Given the description of an element on the screen output the (x, y) to click on. 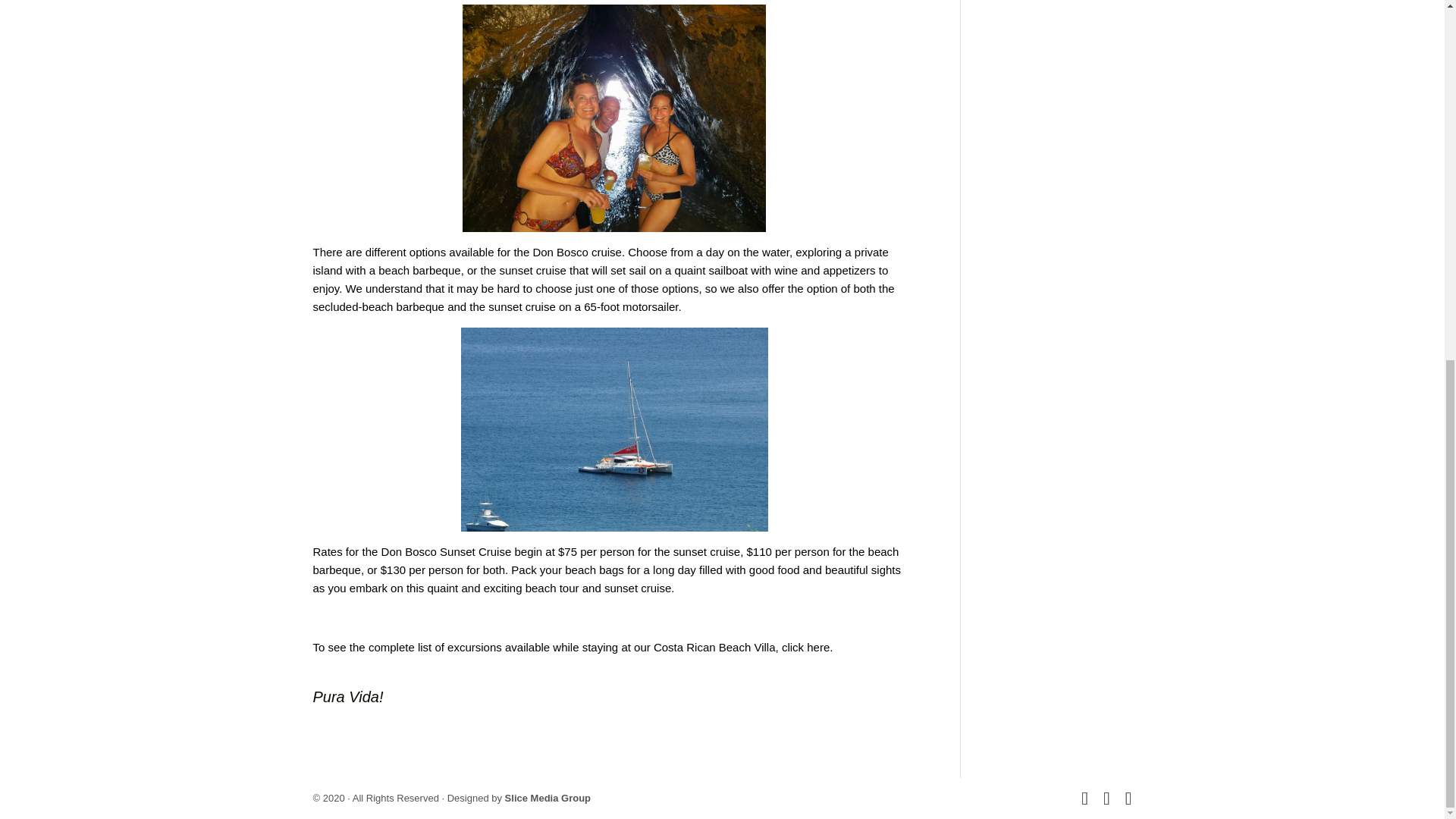
here (817, 646)
Slice Media Group (548, 797)
